Given the description of an element on the screen output the (x, y) to click on. 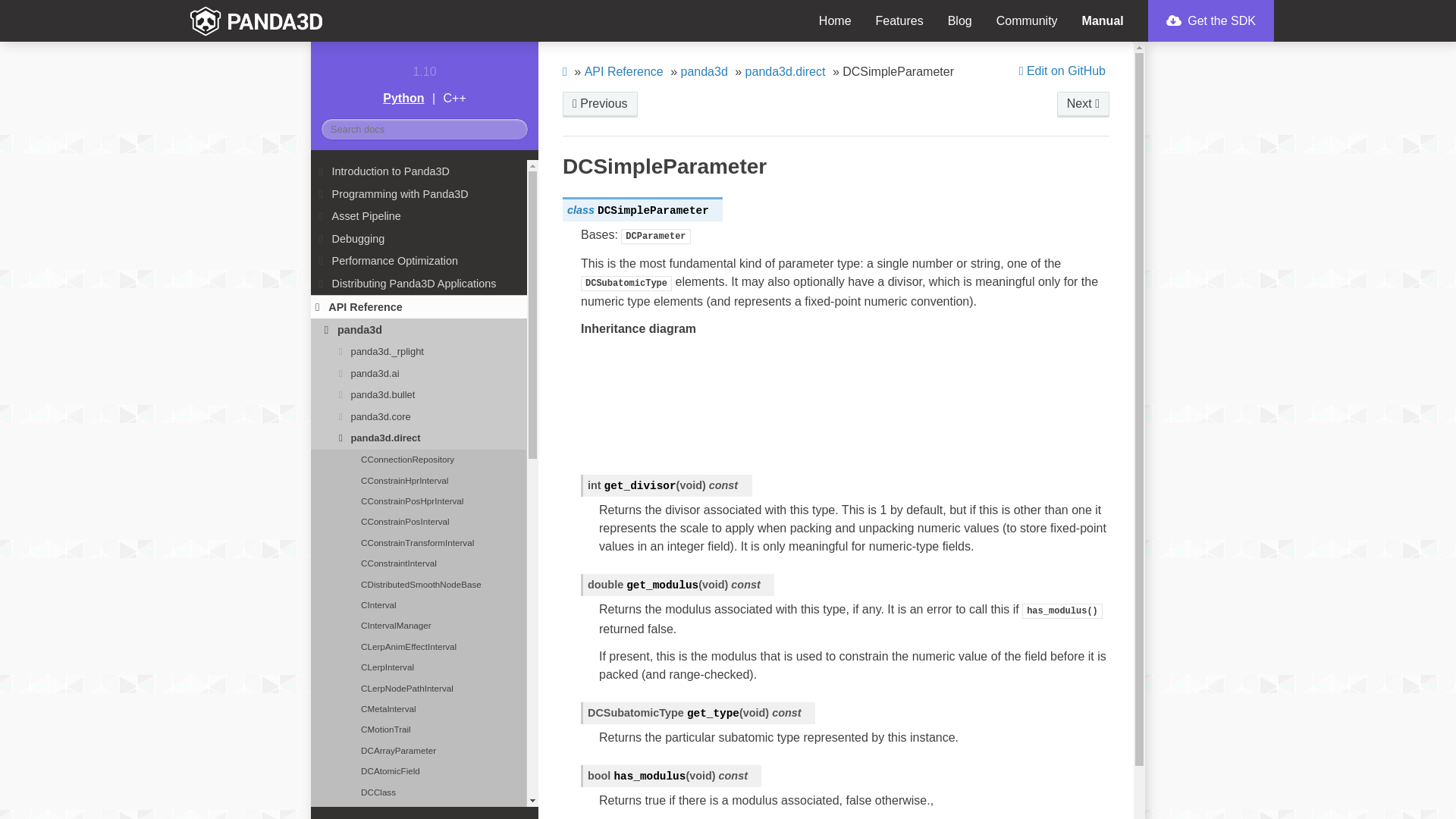
Programming with Panda3D (419, 193)
Get the SDK (1211, 20)
Features (899, 20)
Download Panda3D 1.10.14 (1211, 20)
Blog (960, 20)
Python (403, 98)
Manual (1102, 20)
Home (834, 20)
Community (1027, 20)
Introduction to Panda3D (419, 170)
